Given the description of an element on the screen output the (x, y) to click on. 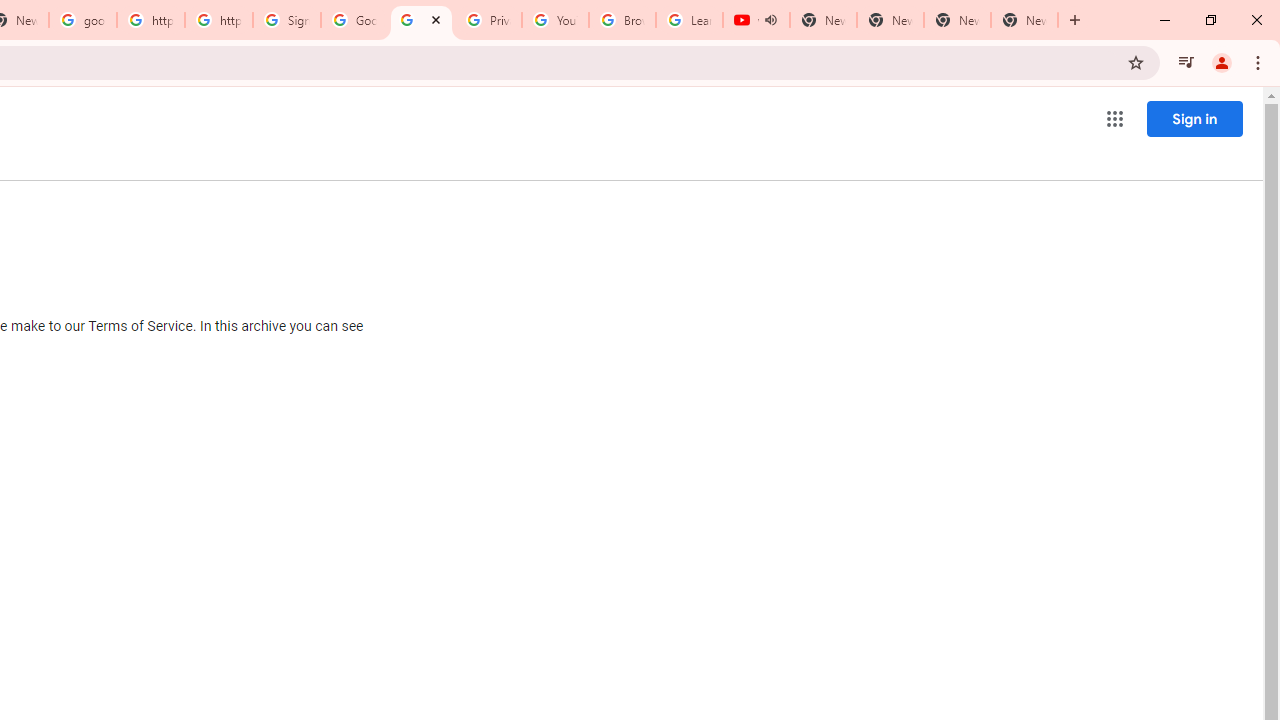
Mute tab (770, 20)
https://scholar.google.com/ (150, 20)
YouTube (555, 20)
